Given the description of an element on the screen output the (x, y) to click on. 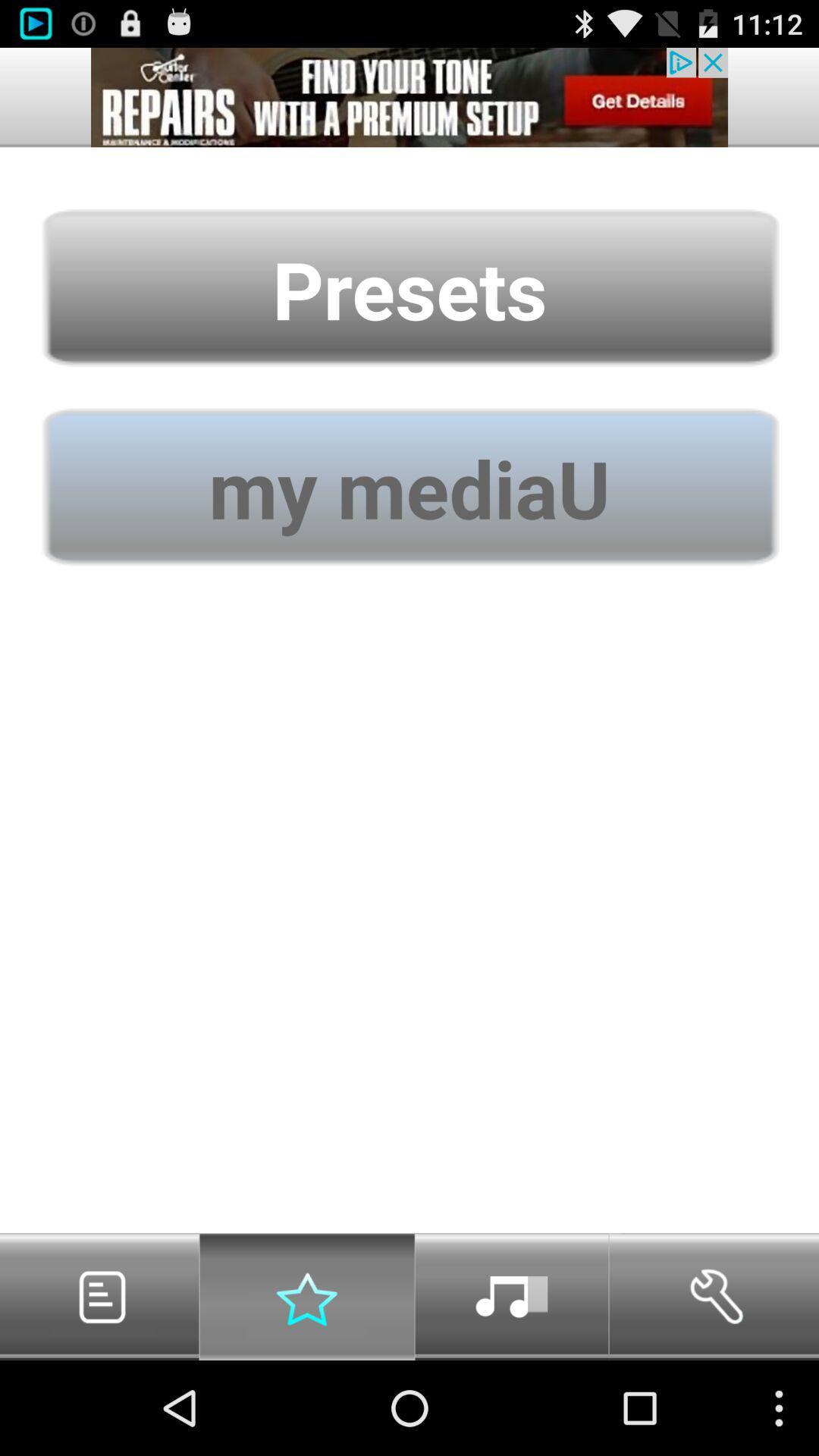
interact with advertisement (409, 97)
